Given the description of an element on the screen output the (x, y) to click on. 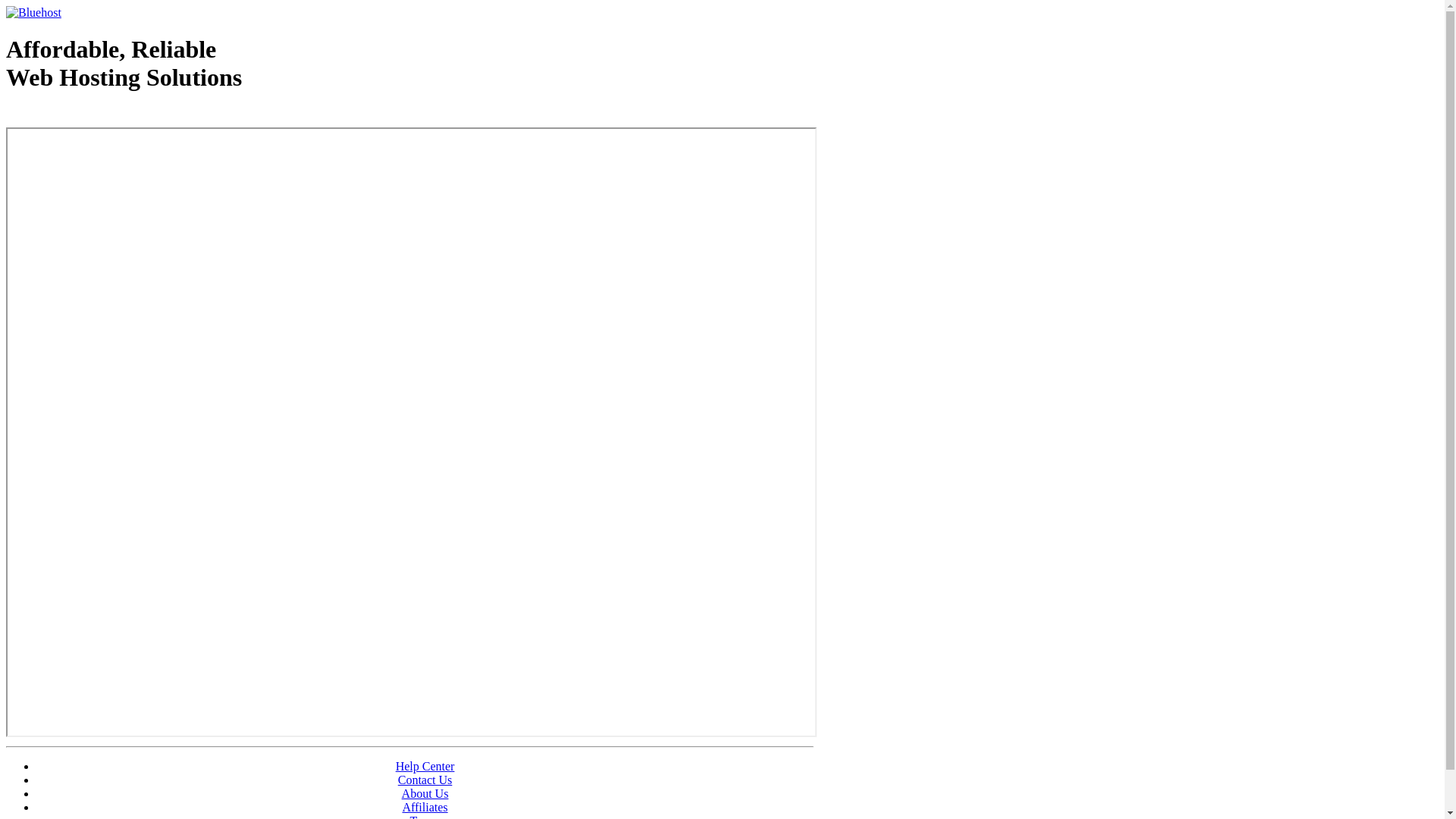
Affiliates Element type: text (424, 806)
About Us Element type: text (424, 793)
Contact Us Element type: text (425, 779)
Web Hosting - courtesy of www.bluehost.com Element type: text (94, 115)
Help Center Element type: text (425, 765)
